Given the description of an element on the screen output the (x, y) to click on. 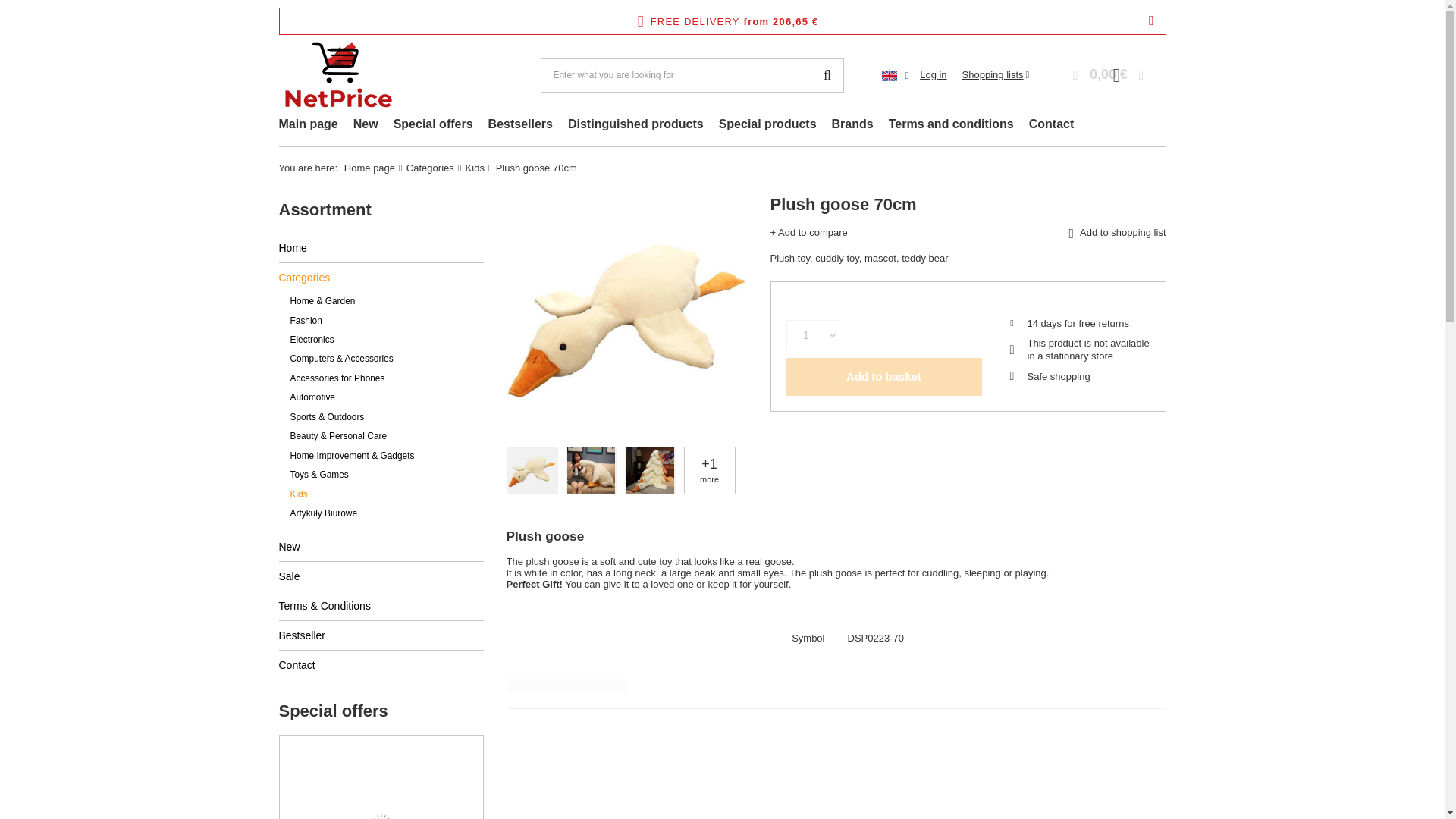
Bestsellers (520, 125)
Special products (767, 125)
Distinguished products (635, 125)
Terms and conditions (951, 125)
Log in (933, 74)
Home (381, 247)
Contact (1051, 125)
Click here to see all categories (325, 209)
Terms and conditions (951, 125)
New (381, 546)
Special offers (432, 125)
Special products (767, 125)
Shopping lists (995, 74)
Contact (1051, 125)
Kids (474, 167)
